Given the description of an element on the screen output the (x, y) to click on. 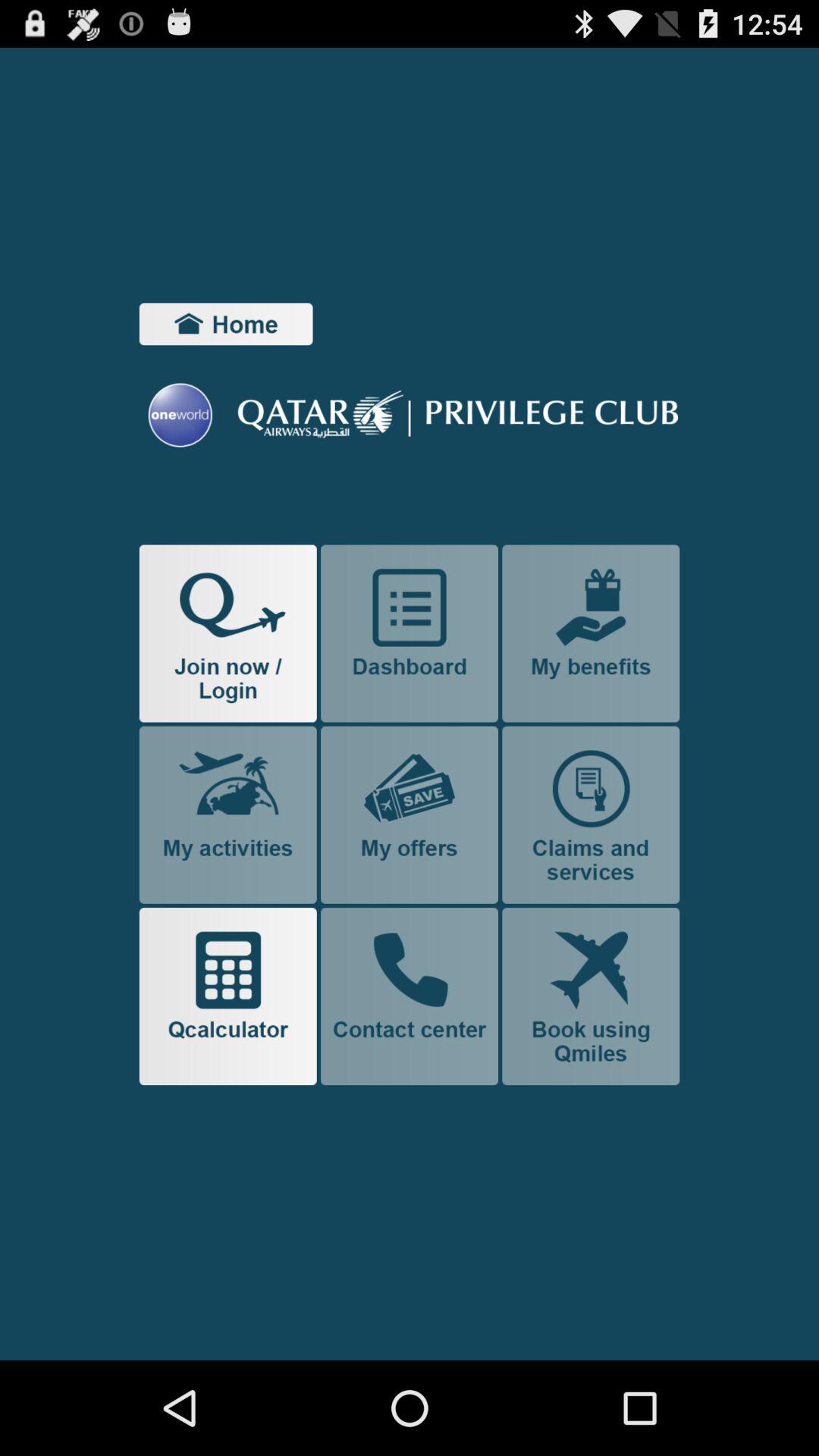
call the contact center (409, 996)
